Given the description of an element on the screen output the (x, y) to click on. 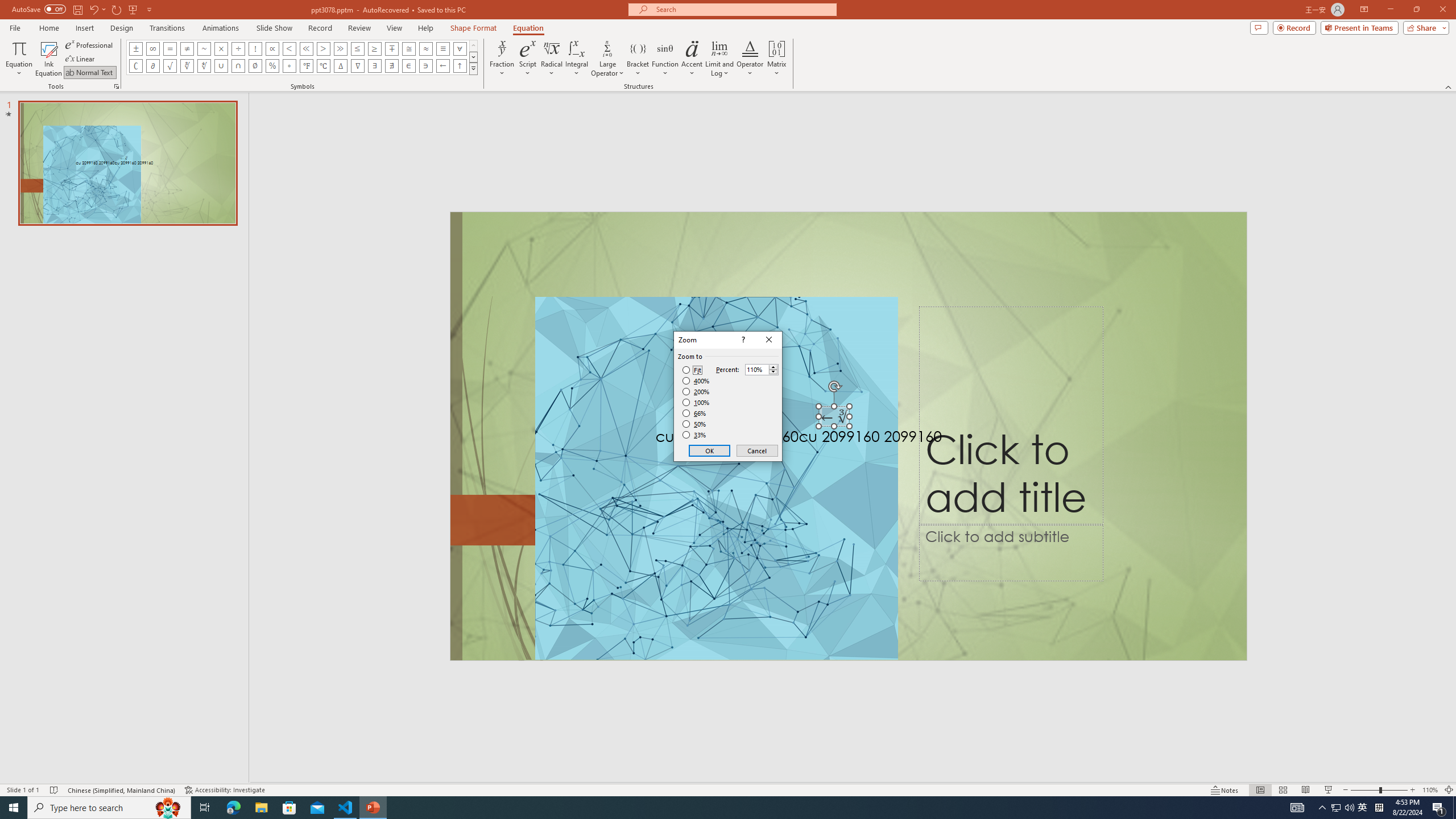
Large Operator (607, 58)
Cancel (756, 450)
Professional (90, 44)
Equation Symbol Equal (170, 48)
Action Center, 1 new notification (1439, 807)
Operator (749, 58)
Equation Symbol Up Arrow (459, 65)
Equation Symbol Approximately (203, 48)
